Given the description of an element on the screen output the (x, y) to click on. 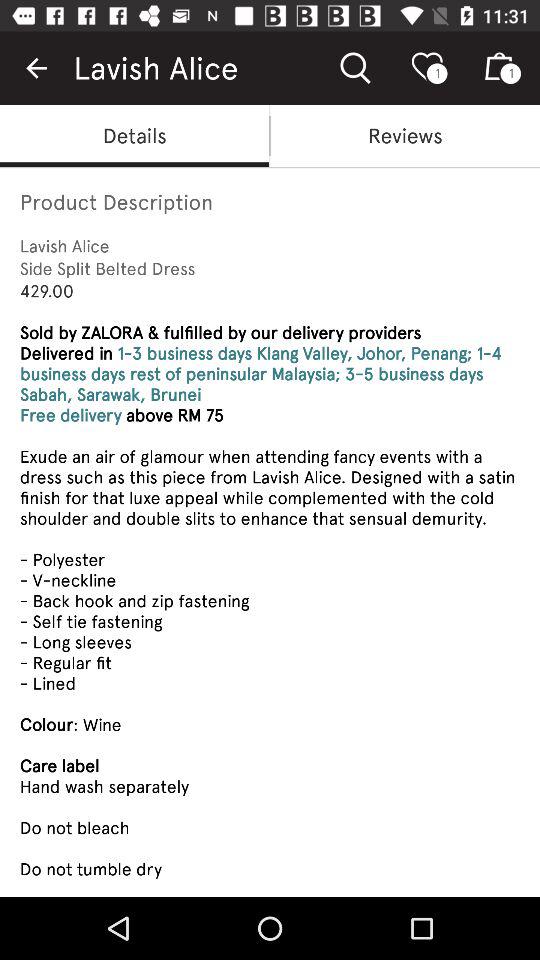
swipe until reviews (405, 135)
